Given the description of an element on the screen output the (x, y) to click on. 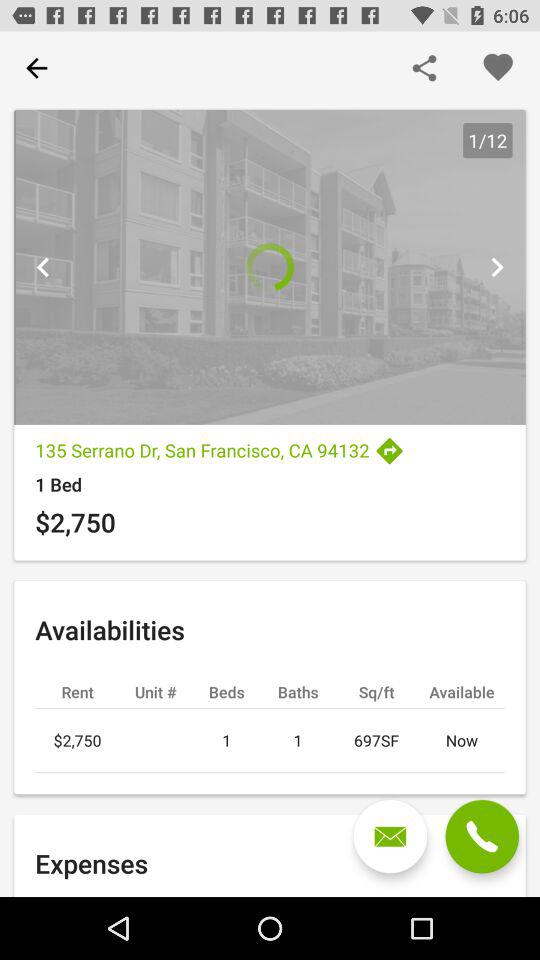
set calling (481, 836)
